Given the description of an element on the screen output the (x, y) to click on. 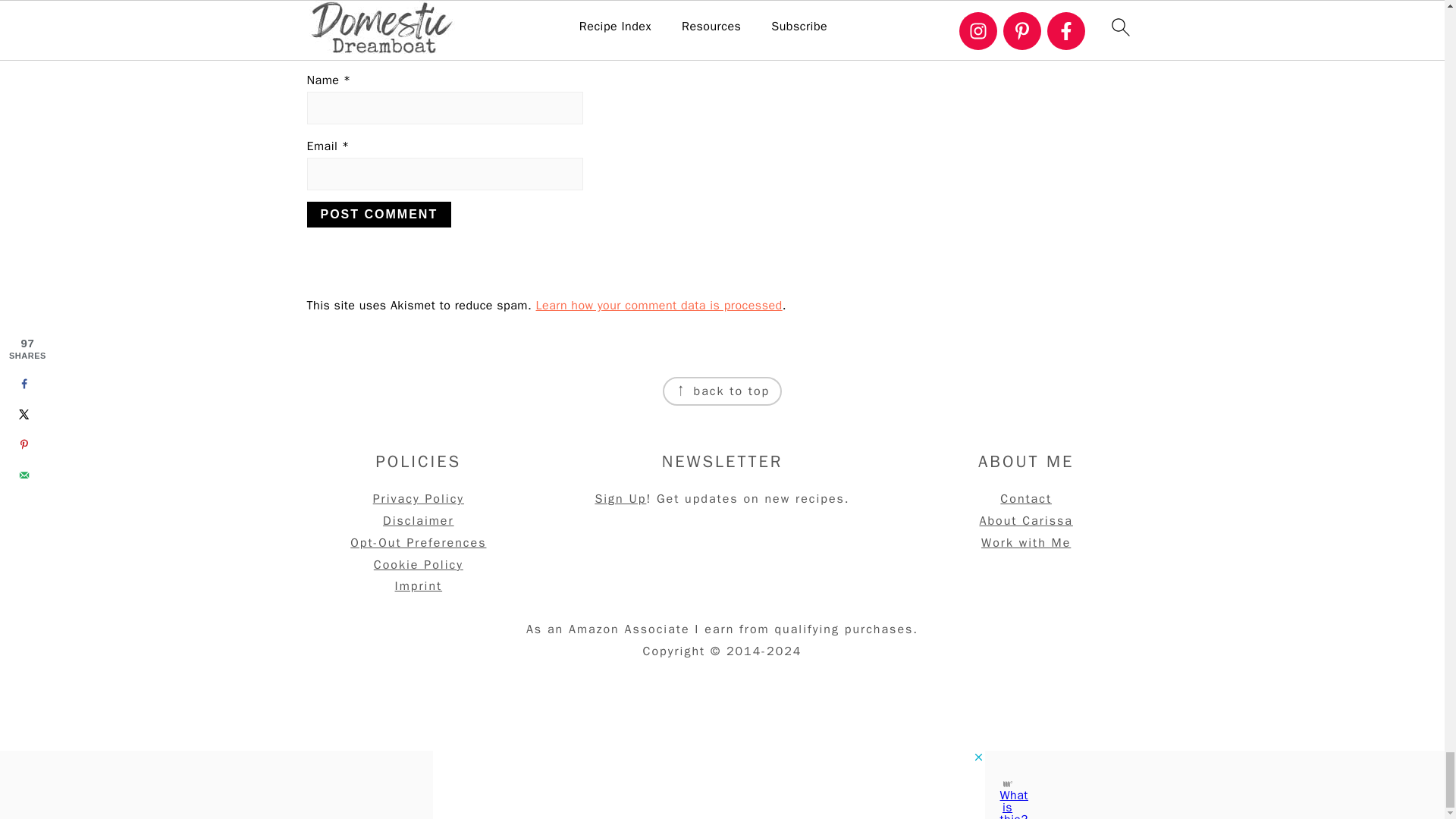
Post Comment (378, 214)
